Given the description of an element on the screen output the (x, y) to click on. 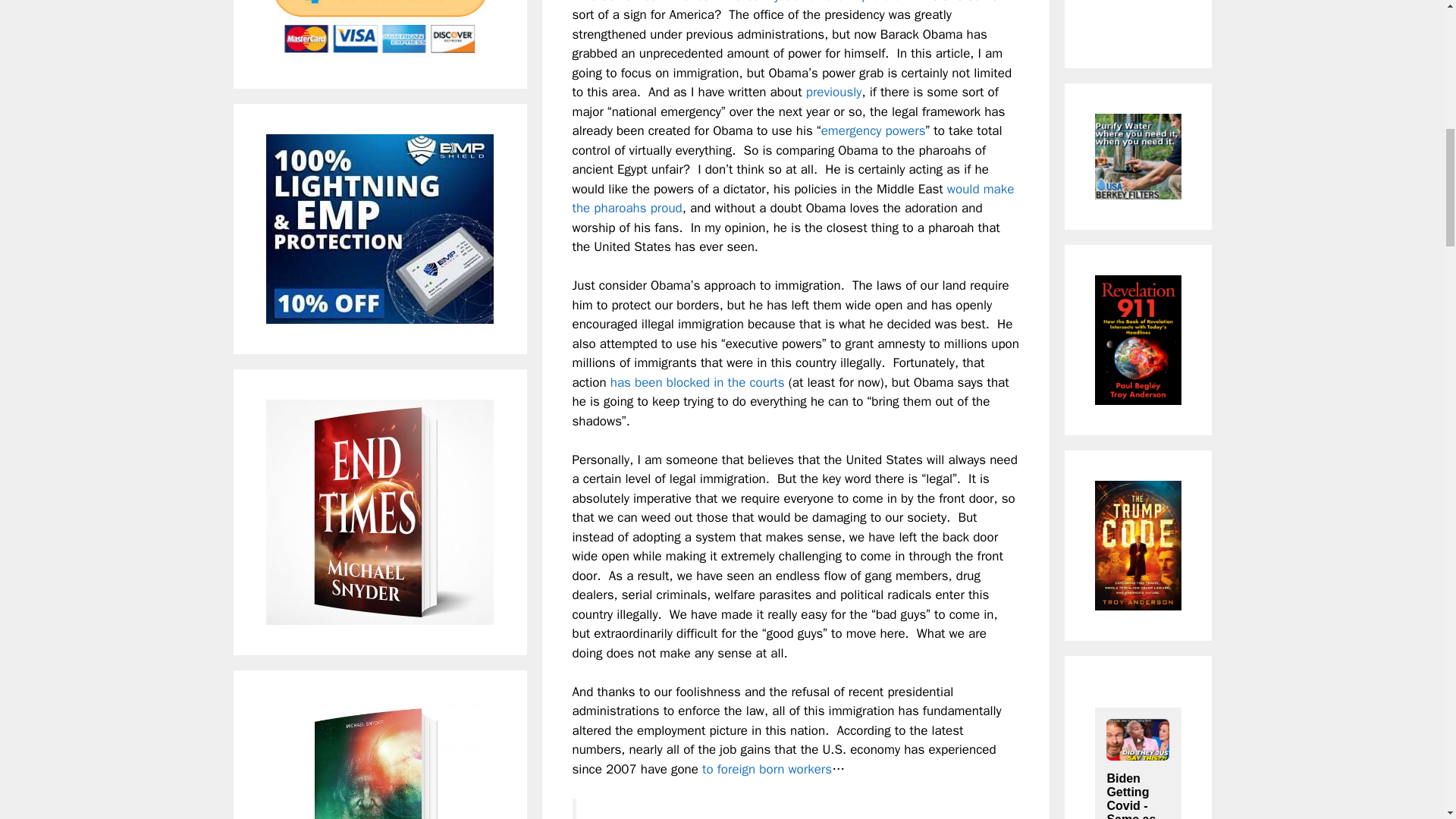
previously (833, 91)
emergency powers (873, 130)
emergency powers (873, 130)
has been blocked in the courts (697, 382)
would make the pharoahs proud (792, 198)
would make the pharoahs proud (792, 198)
just won the Triple Crown (845, 2)
just won the Triple Crown (845, 2)
has been blocked in the courts (697, 382)
to foreign born workers (766, 769)
previously (833, 91)
to foreign born workers (766, 769)
